Given the description of an element on the screen output the (x, y) to click on. 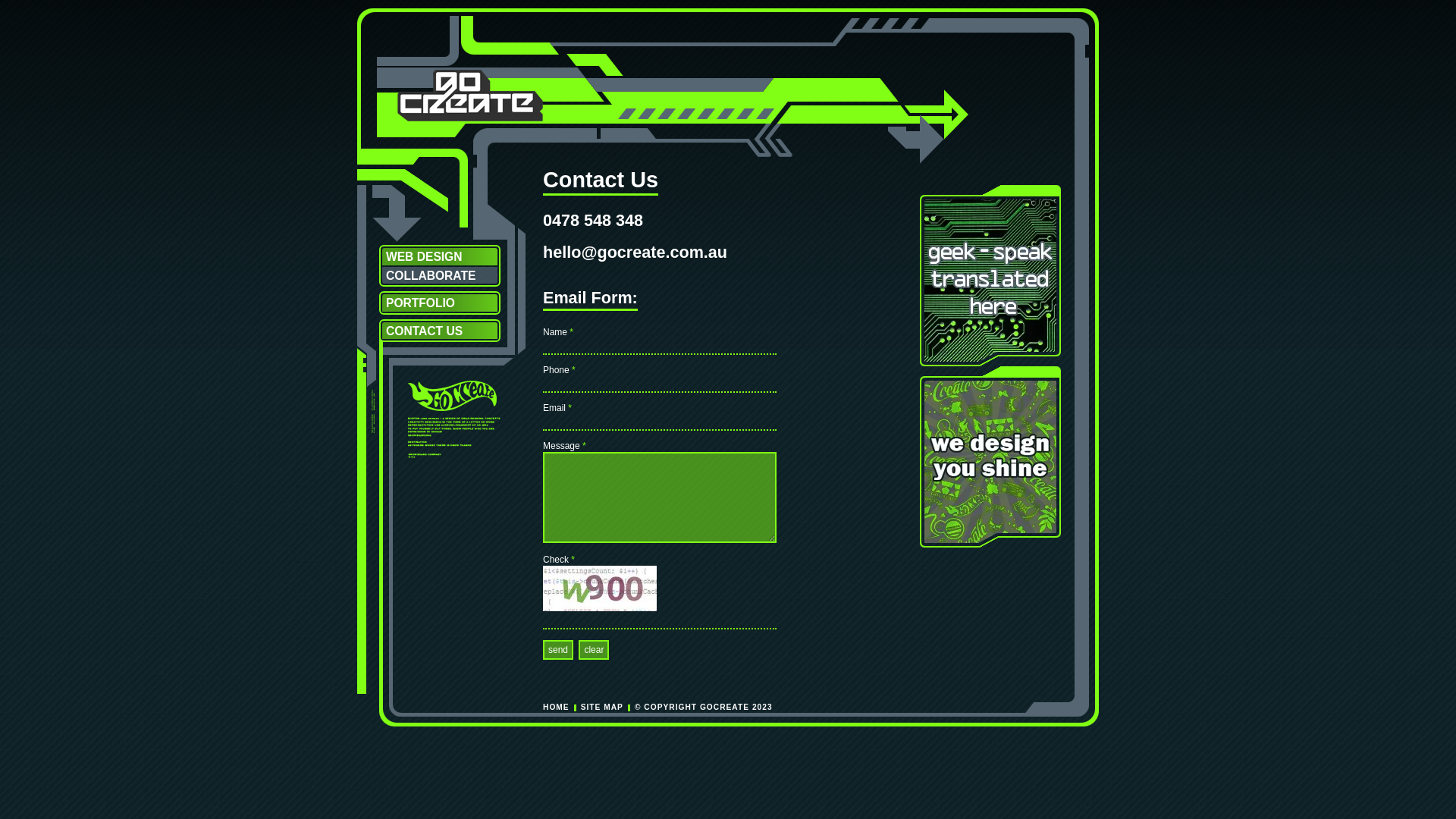
COLLABORATE Element type: text (439, 275)
Please enter your phone number Element type: hover (659, 384)
WEB DESIGN Element type: text (439, 256)
Please enter your email address Element type: hover (659, 422)
SITE MAP Element type: text (601, 706)
web design Adelaide, gocreate Element type: hover (451, 395)
send Element type: text (557, 649)
Does web design geek-speak sound double dutch? Element type: hover (989, 275)
CONTACT US Element type: text (439, 330)
Clear fields Element type: hover (593, 649)
We do the work. You make the impact. Element type: hover (989, 456)
PORTFOLIO Element type: text (439, 302)
Send message Element type: hover (557, 649)
gocreate Element type: hover (469, 117)
HOME Element type: text (555, 706)
Please enter your name Element type: hover (659, 346)
Please enter your message here Element type: hover (659, 496)
Please enter the Captcha Code Element type: hover (659, 620)
